Given the description of an element on the screen output the (x, y) to click on. 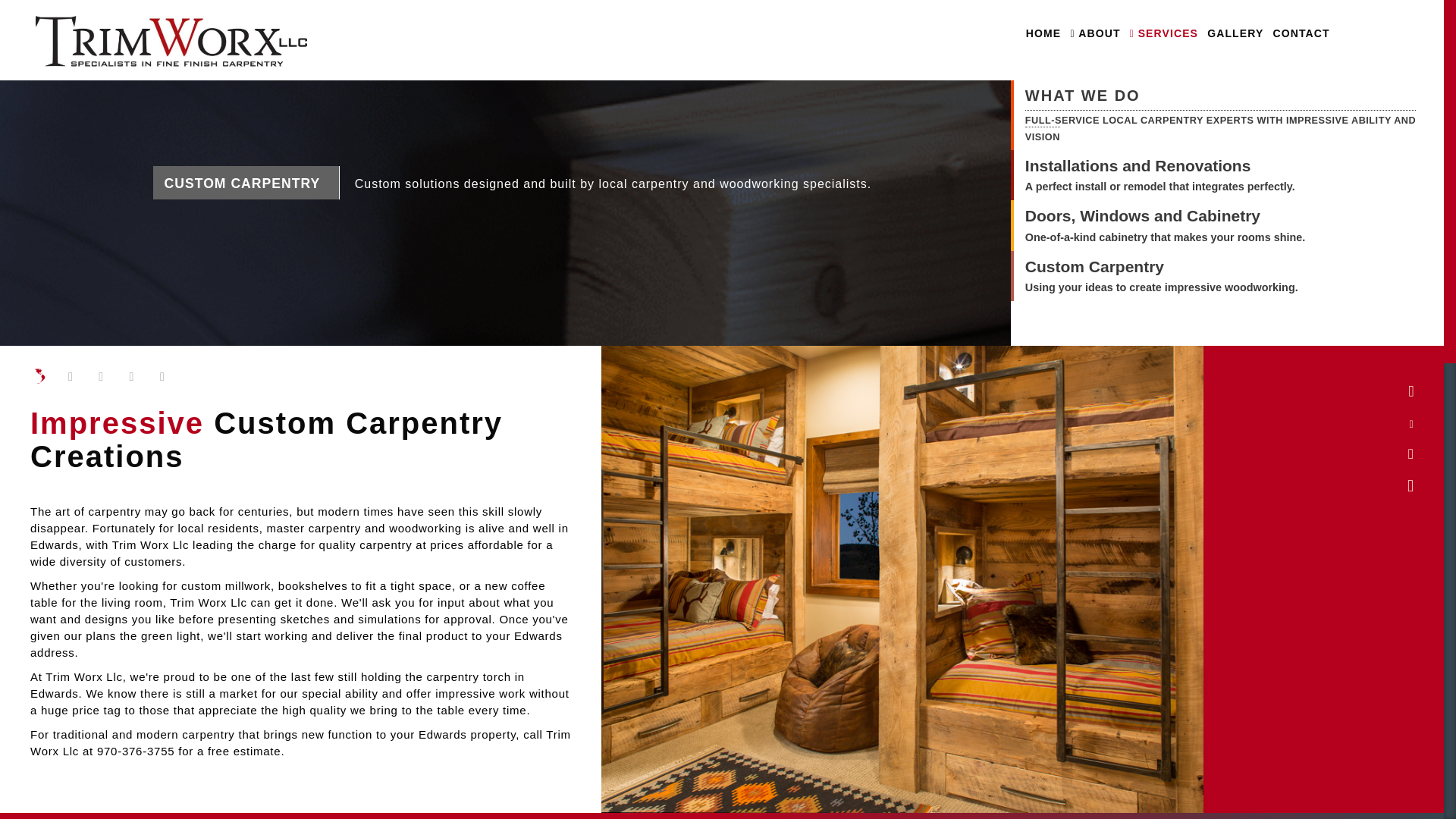
Installations and Renovations (1160, 165)
WHAT WE DO (1228, 96)
Custom Carpentry (1161, 266)
CONTACT (1301, 33)
Doors, Windows and Cabinetry (1164, 215)
GALLERY (1235, 33)
HOME (1043, 33)
 ABOUT (1094, 33)
HOME  ABOUT  SERVICES GALLERY CONTACT (722, 40)
 SERVICES (1163, 33)
